Given the description of an element on the screen output the (x, y) to click on. 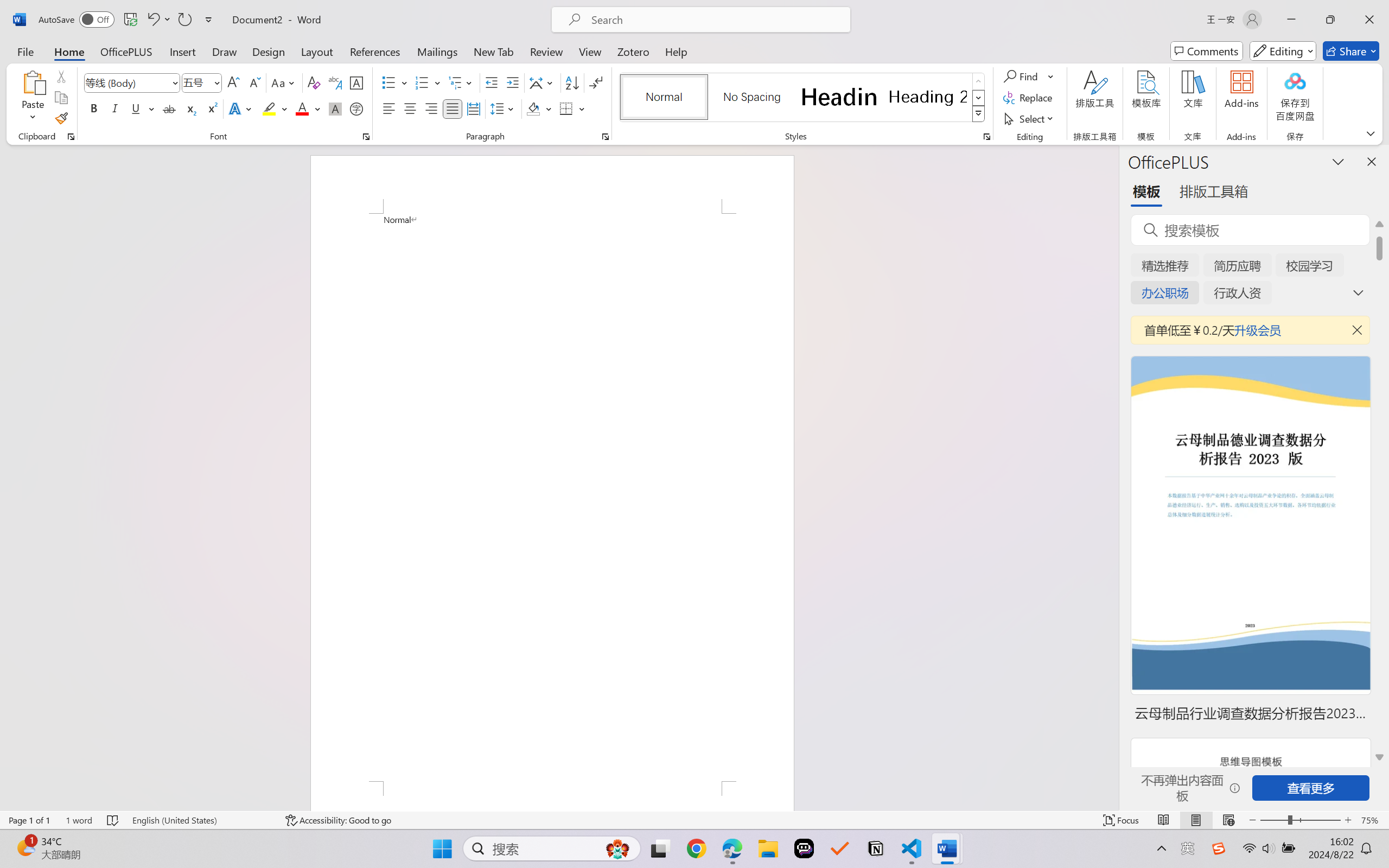
Zoom (1300, 819)
Class: NetUIScrollBar (1111, 477)
Class: Image (1218, 847)
Clear Formatting (313, 82)
Row up (978, 81)
Share (1350, 51)
Italic (115, 108)
Strikethrough (169, 108)
